Given the description of an element on the screen output the (x, y) to click on. 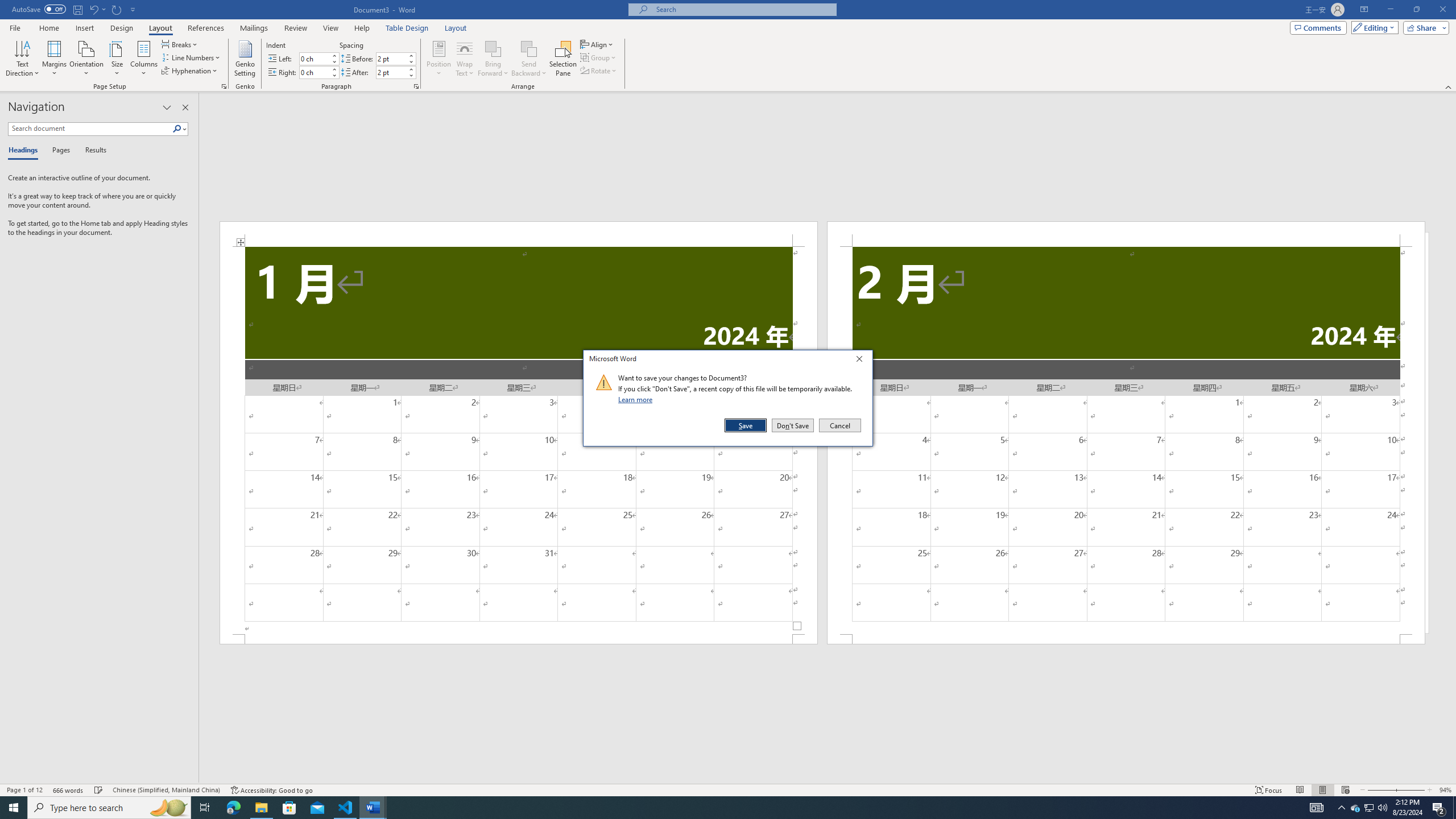
Cancel (839, 425)
Word - 2 running windows (373, 807)
Bring Forward (492, 58)
Spacing After (391, 72)
